Given the description of an element on the screen output the (x, y) to click on. 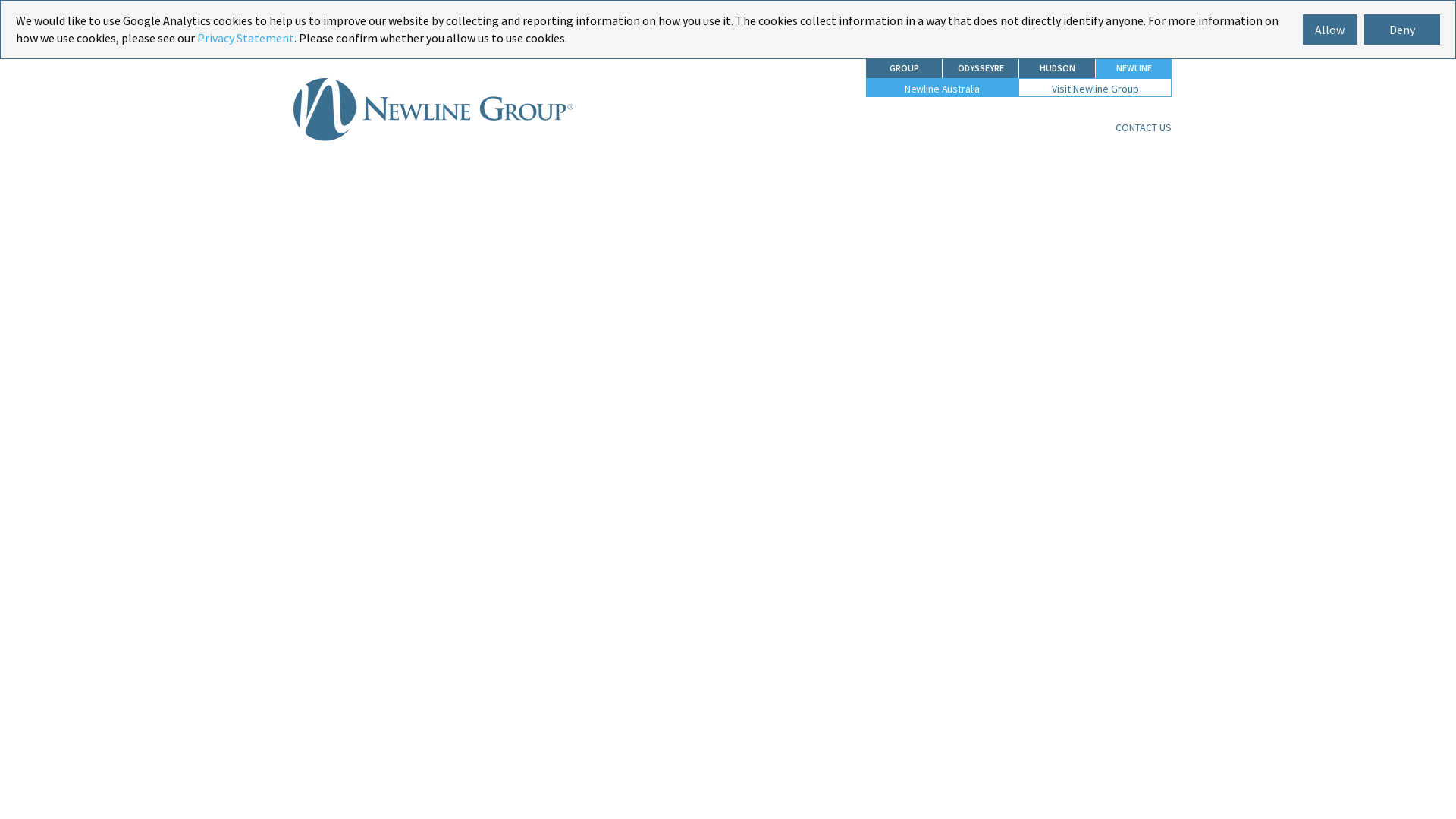
Deny Element type: text (1402, 29)
ODYSSEYRE Element type: text (980, 68)
NEWLINE Element type: text (1133, 68)
HUDSON Element type: text (1057, 68)
Allow Element type: text (1329, 29)
Visit Newline Group Element type: text (1094, 88)
Newline Australia Element type: hover (433, 114)
Privacy Statement Element type: text (245, 37)
GROUP Element type: text (903, 68)
CONTACT US Element type: text (1143, 127)
Newline Australia Element type: text (942, 88)
